Given the description of an element on the screen output the (x, y) to click on. 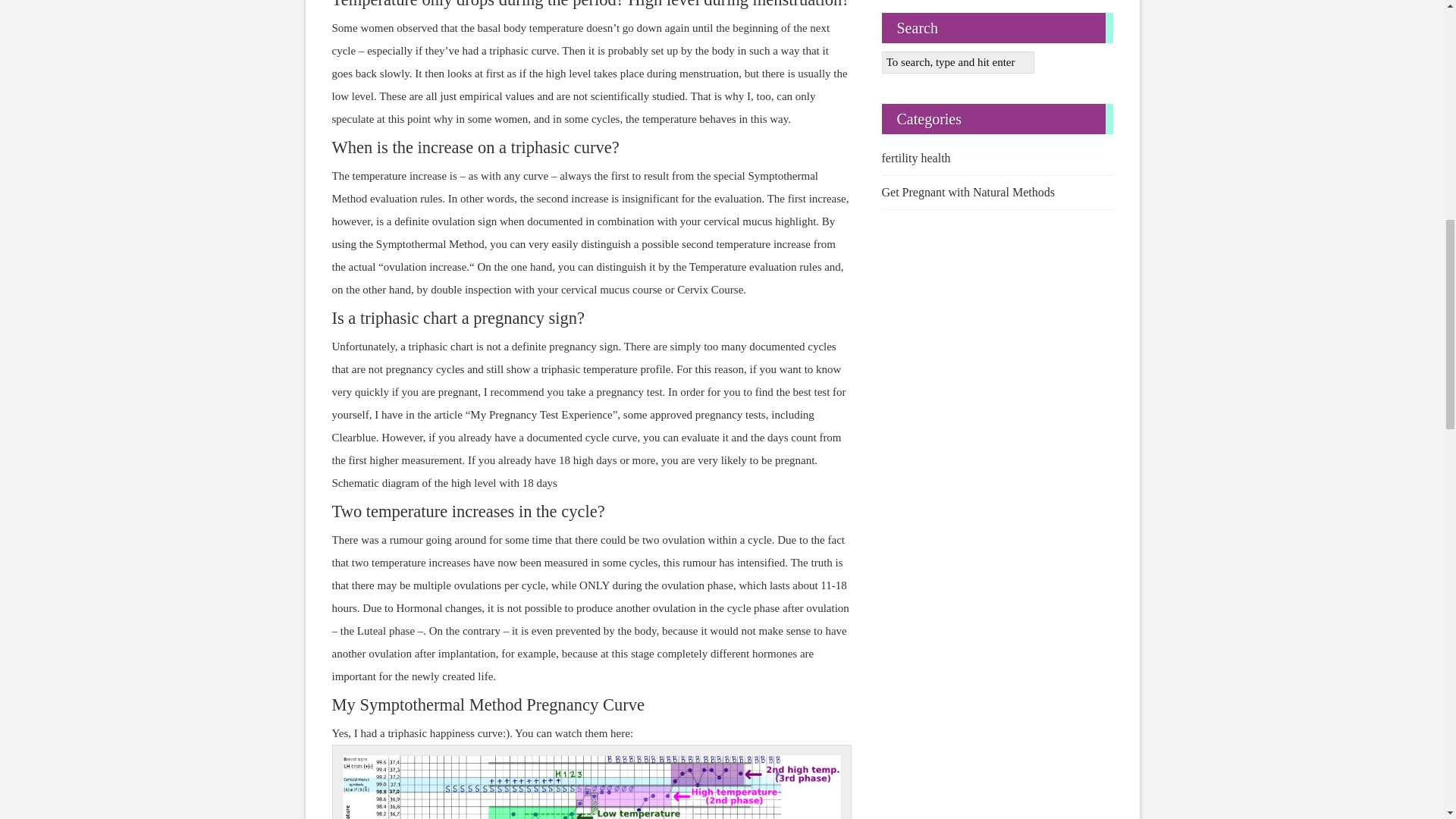
fertility health (996, 158)
Get Pregnant with Natural Methods (996, 192)
To search, type and hit enter (956, 62)
